Given the description of an element on the screen output the (x, y) to click on. 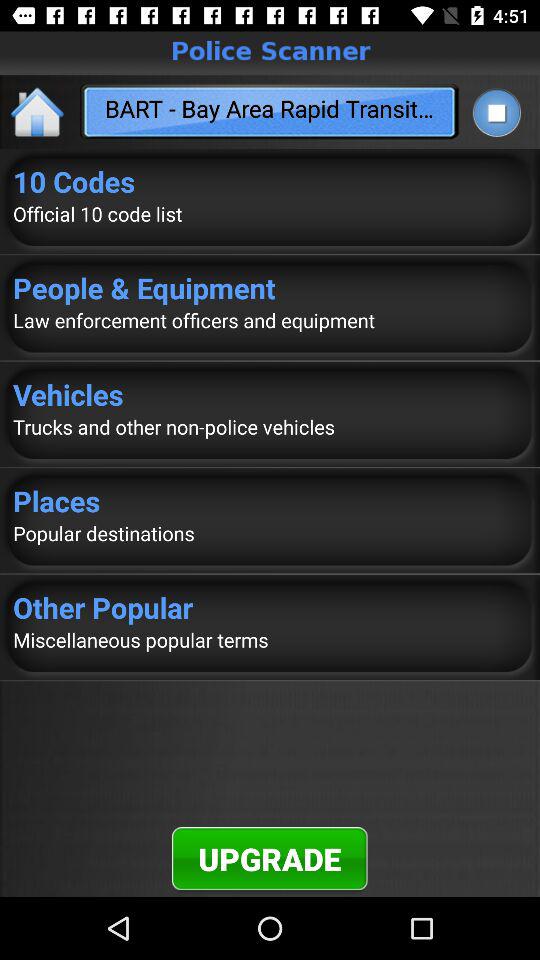
tap icon at the top right corner (496, 111)
